Given the description of an element on the screen output the (x, y) to click on. 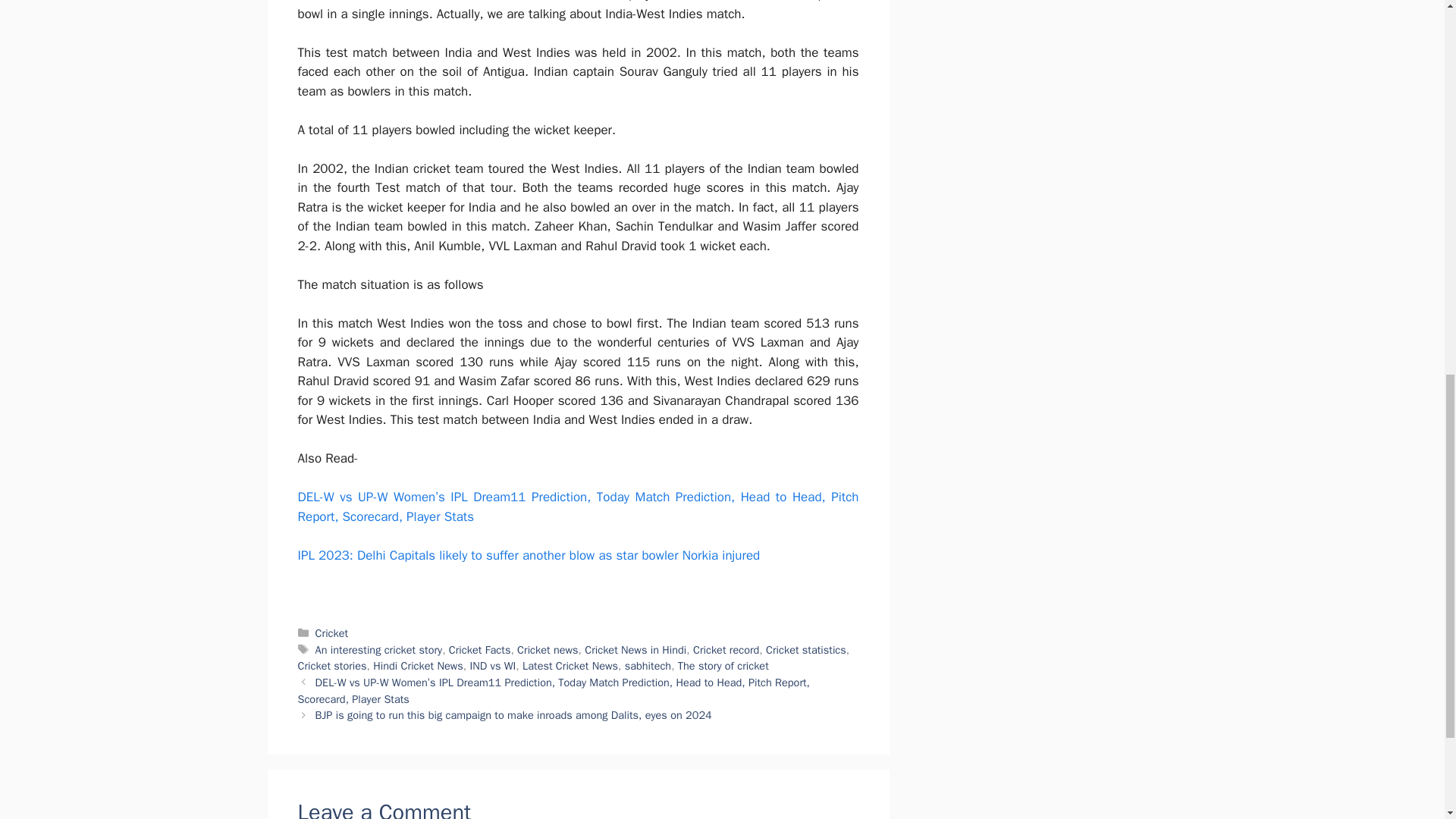
Cricket stories (331, 665)
Cricket News in Hindi (635, 649)
Hindi Cricket News (417, 665)
Cricket (332, 632)
The story of cricket (723, 665)
IND vs WI (491, 665)
sabhitech (647, 665)
An interesting cricket story (378, 649)
